Given the description of an element on the screen output the (x, y) to click on. 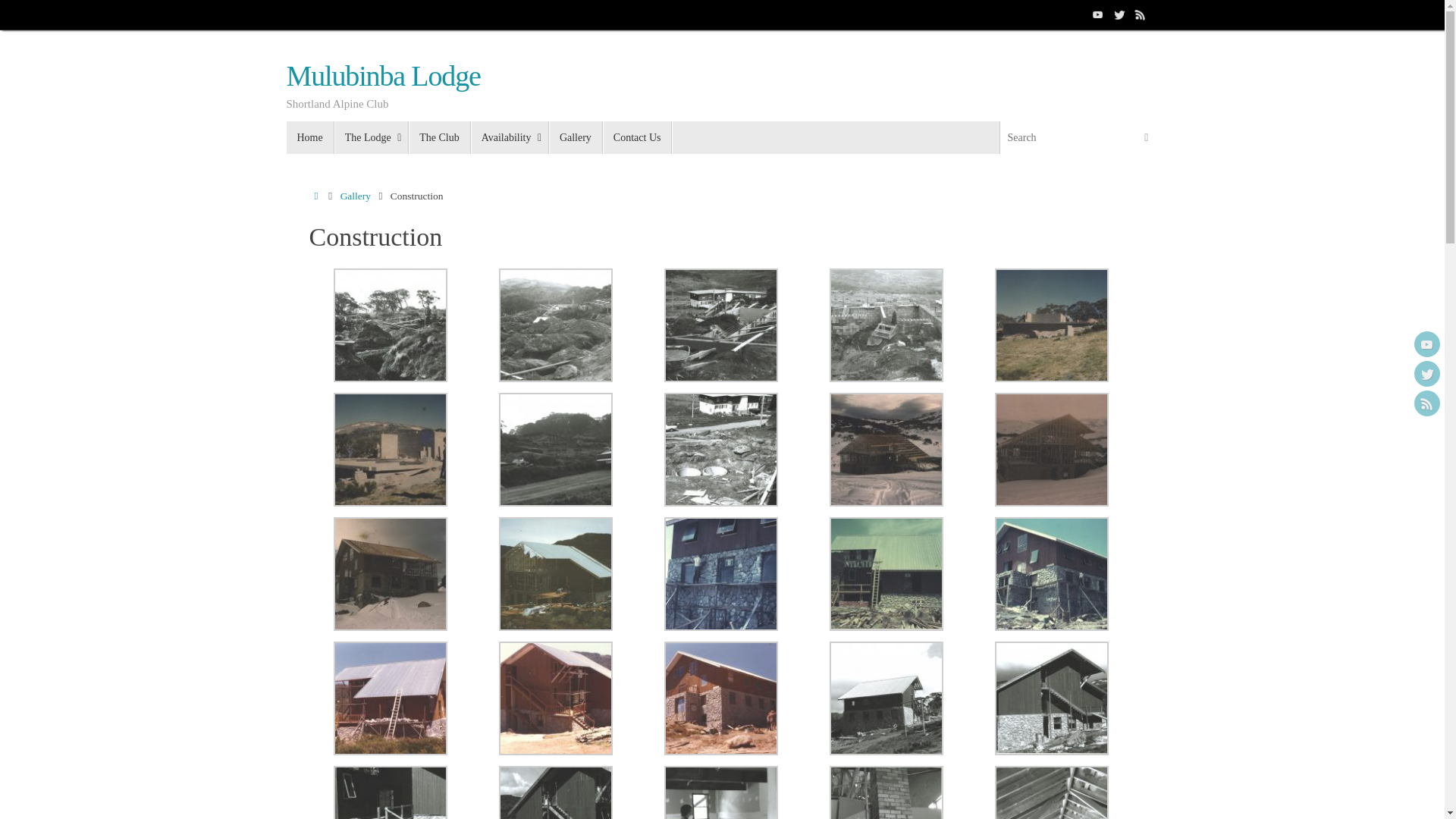
Home Element type: text (310, 137)
YouTube Element type: hover (1427, 344)
Mulubinba Lodge Element type: text (383, 76)
The Club Element type: text (439, 137)
Twitter Element type: hover (1427, 373)
Gallery Element type: text (355, 195)
Gallery Element type: text (575, 137)
RSS Element type: hover (1427, 403)
Twitter Element type: hover (1118, 14)
RSS Element type: hover (1140, 14)
Contact Us Element type: text (637, 137)
Skip to content Element type: text (285, 144)
YouTube Element type: hover (1097, 14)
Home Element type: text (316, 195)
Search Element type: text (1146, 137)
Availability Element type: text (509, 137)
The Lodge Element type: text (371, 137)
